Given the description of an element on the screen output the (x, y) to click on. 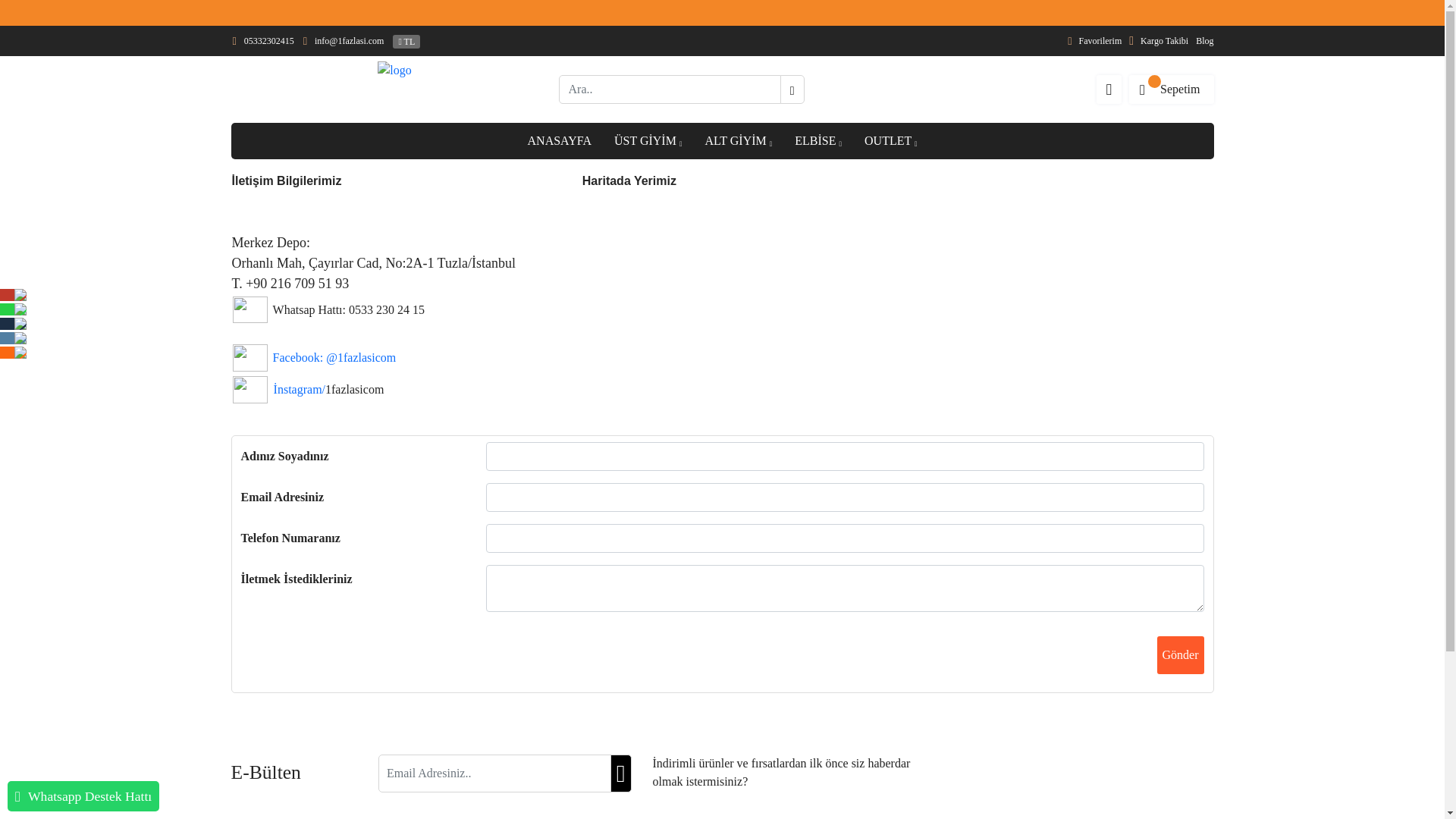
OUTLET Element type: text (890, 140)
   Kargo Takibi Element type: text (1154, 40)
Facebook: @1fazlasicom Element type: text (334, 357)
Blog Element type: text (1200, 40)
ANASAYFA Element type: text (559, 140)
05332302415 Element type: text (265, 40)
info@1fazlasi.com Element type: text (345, 40)
   Element type: text (1108, 89)
   Favorilerim Element type: text (1090, 40)
     Sepetim   Element type: text (1171, 89)
